Given the description of an element on the screen output the (x, y) to click on. 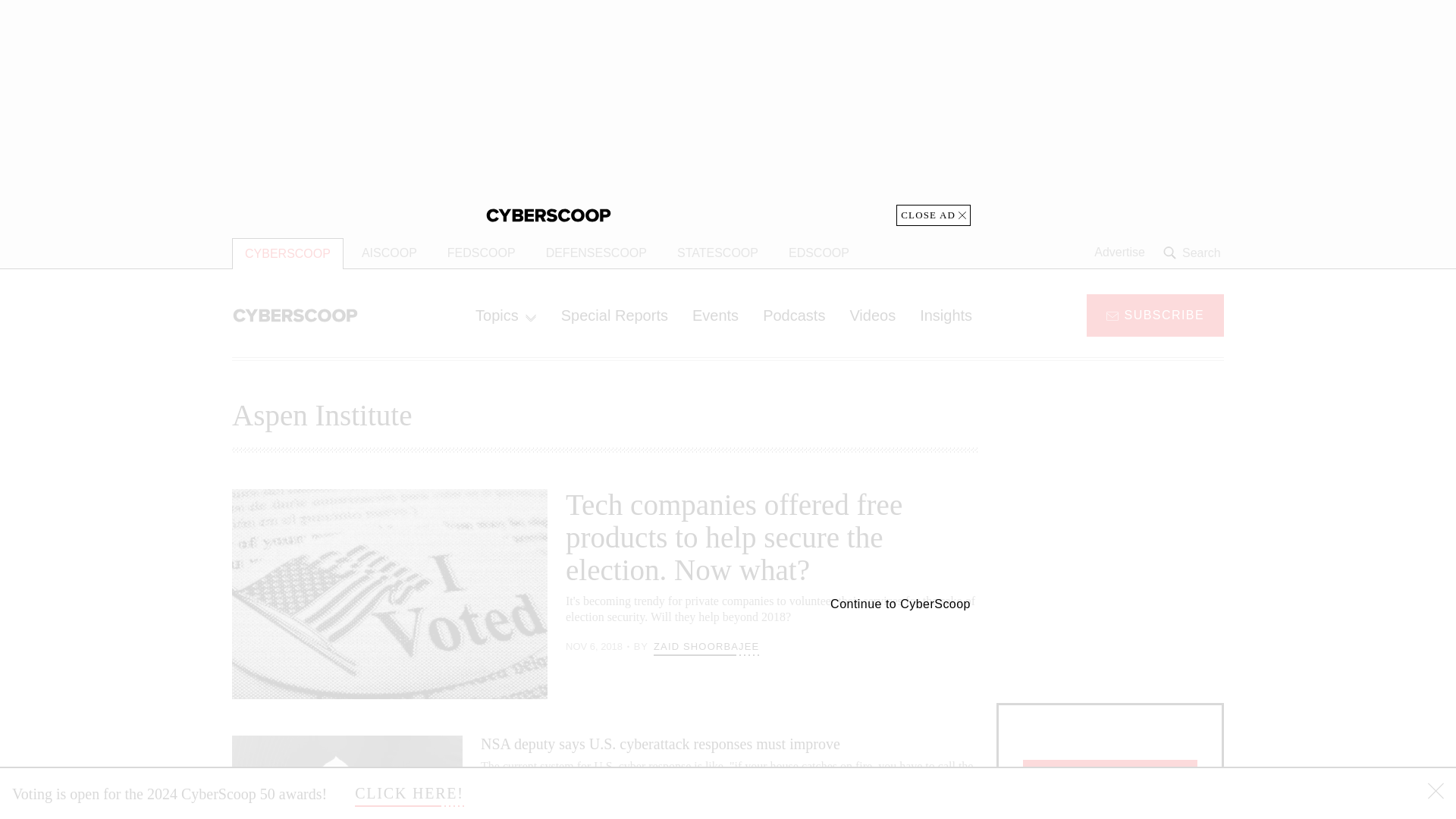
Events (715, 315)
DEFENSESCOOP (596, 253)
Topics (505, 315)
Insights (945, 315)
Special Reports (613, 315)
FEDSCOOP (481, 253)
Videos (872, 315)
SUBSCRIBE (1155, 314)
Advertise (1119, 252)
Podcasts (794, 315)
EDSCOOP (818, 253)
3rd party ad content (1109, 583)
Search (1193, 252)
